Given the description of an element on the screen output the (x, y) to click on. 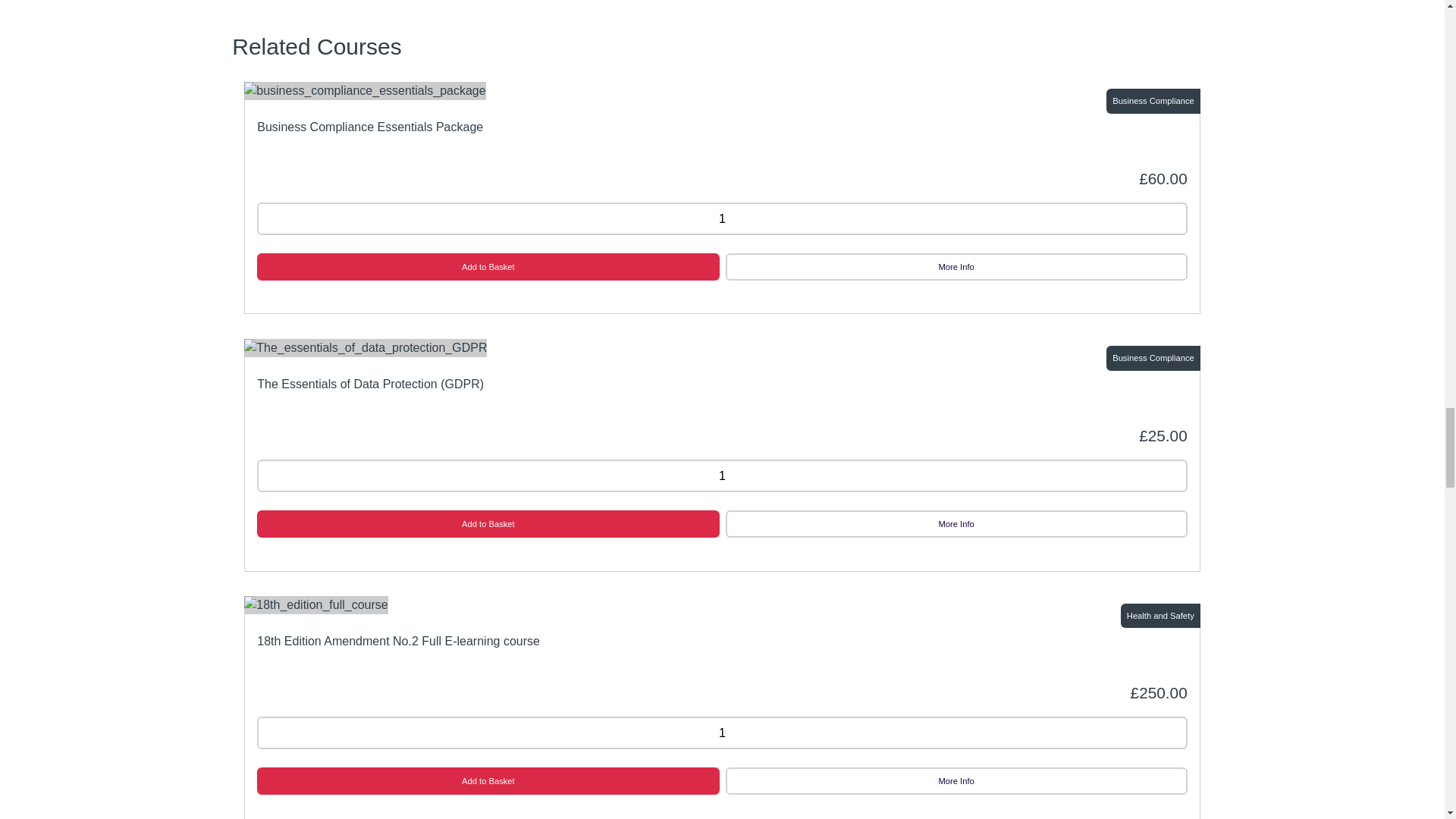
1 (722, 218)
1 (722, 732)
1 (722, 475)
